Given the description of an element on the screen output the (x, y) to click on. 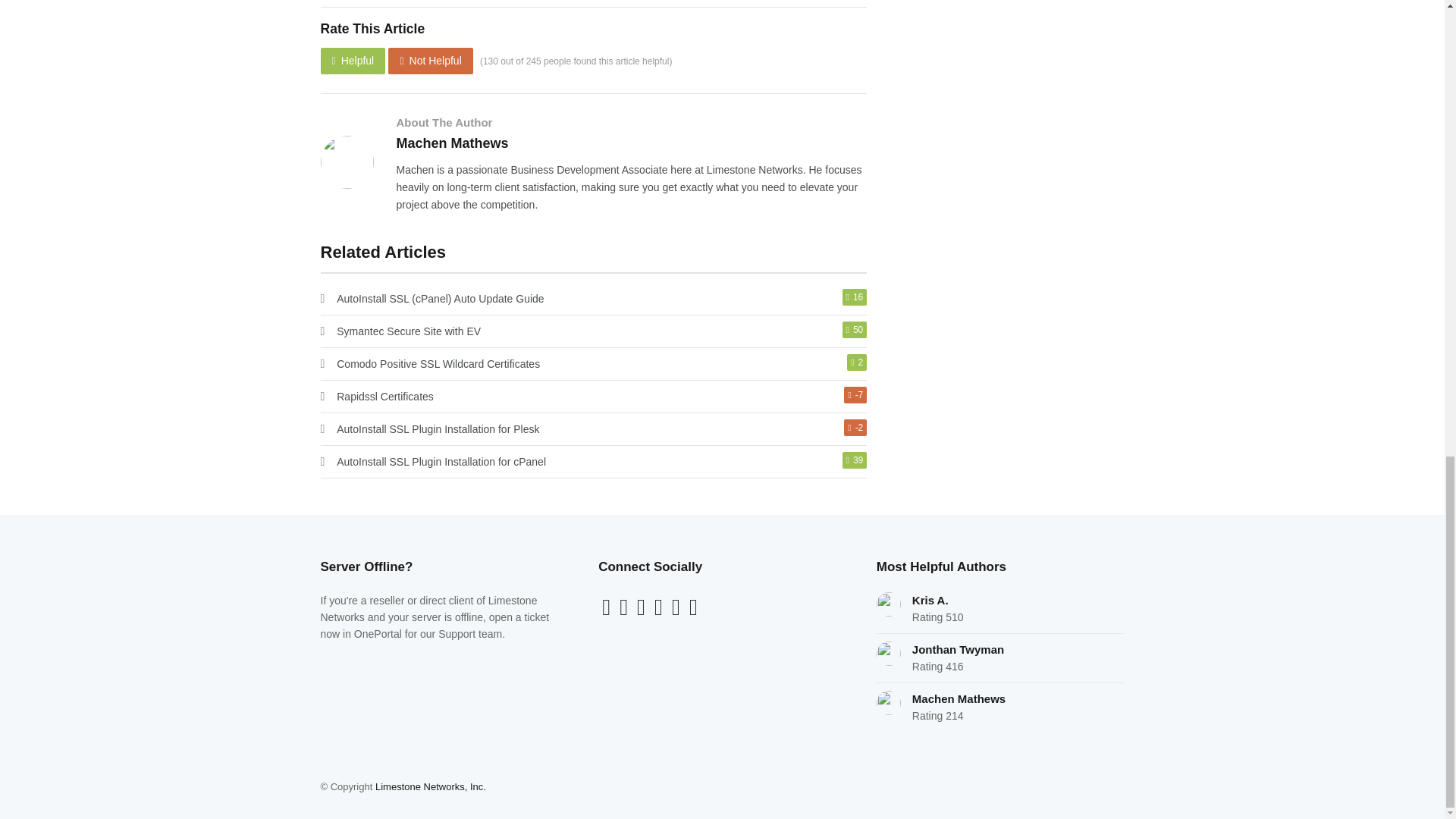
Not Helpful (429, 60)
AutoInstall SSL Plugin Installation for Plesk (437, 428)
AutoInstall SSL Plugin Installation for cPanel (441, 461)
AutoInstall SSL Plugin Installation for cPanel (441, 461)
Rapidssl Certificates (384, 396)
Helpful (352, 60)
Machen Mathews (452, 142)
open a ticket now (434, 624)
AutoInstall SSL Plugin Installation for Plesk (437, 428)
Comodo Positive SSL Wildcard Certificates (438, 363)
